Given the description of an element on the screen output the (x, y) to click on. 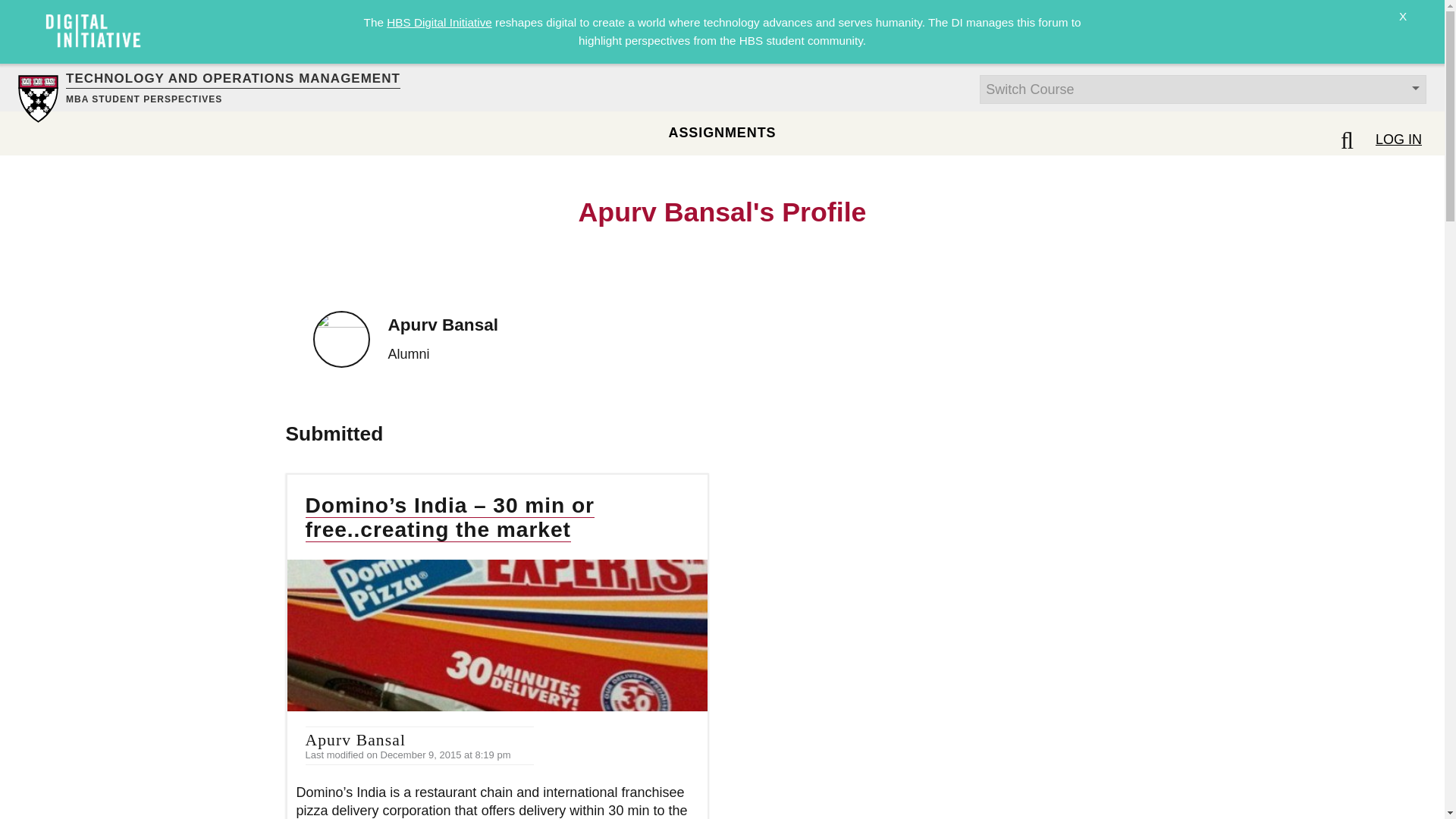
Go (18, 9)
ASSIGNMENTS (722, 132)
Close and dismiss. (1403, 26)
LOG IN (1398, 139)
HBS Digital Initiative (439, 21)
